Given the description of an element on the screen output the (x, y) to click on. 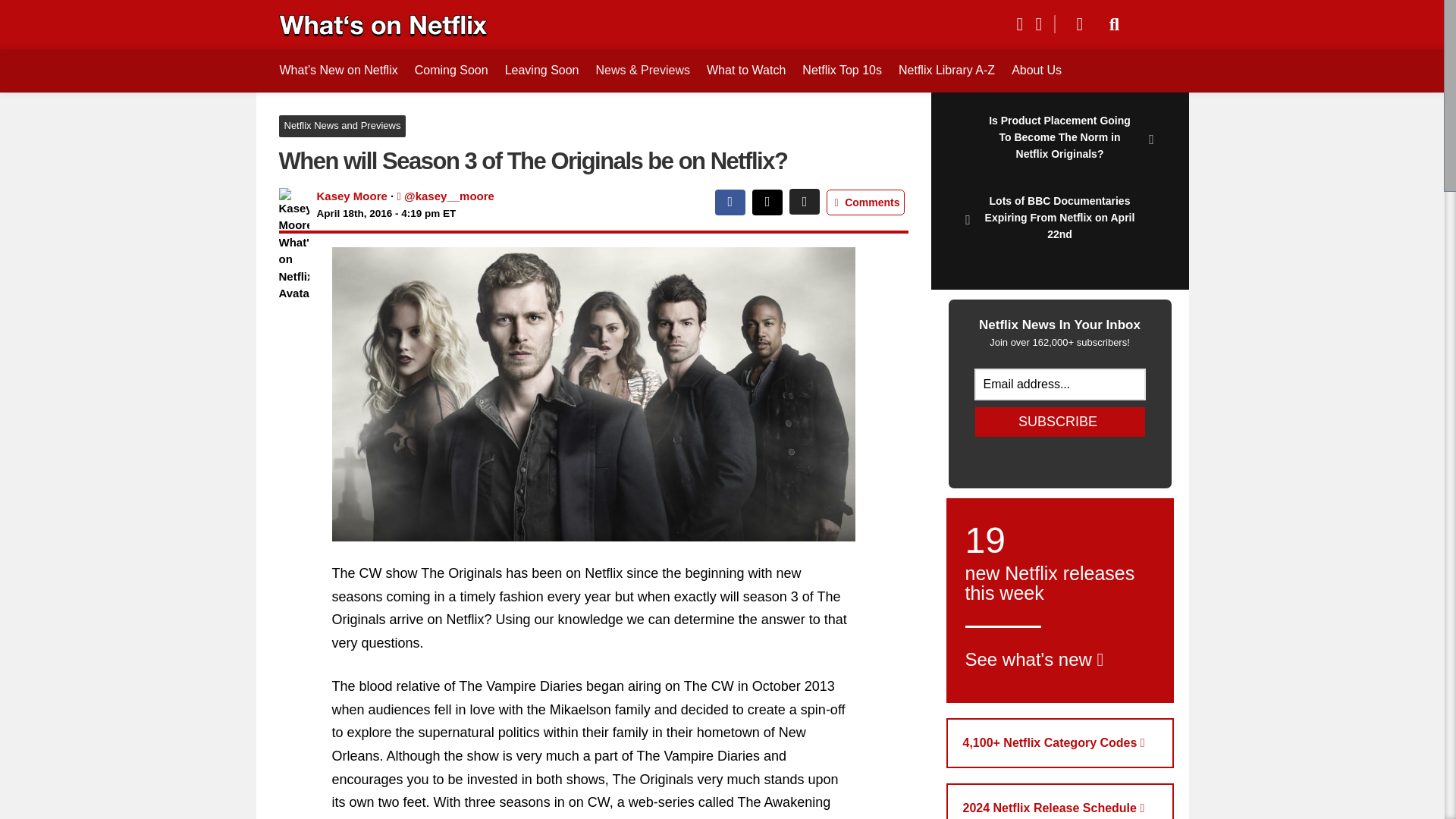
What to Watch (746, 70)
Kasey Moore (352, 195)
Search What's on Netflix (1114, 24)
Posts by Kasey Moore (352, 195)
Take Action Now! (111, 14)
2024 Netflix Release Schedule (1059, 800)
Comments (865, 202)
Netflix Top 10s (842, 70)
2024 Netflix Release Schedule (1059, 800)
Netflix News and Previews (342, 126)
Leaving Soon (541, 70)
Subscribe  (1059, 421)
Every Netflix Category Code (1059, 742)
Netflix Library A-Z (946, 70)
